Given the description of an element on the screen output the (x, y) to click on. 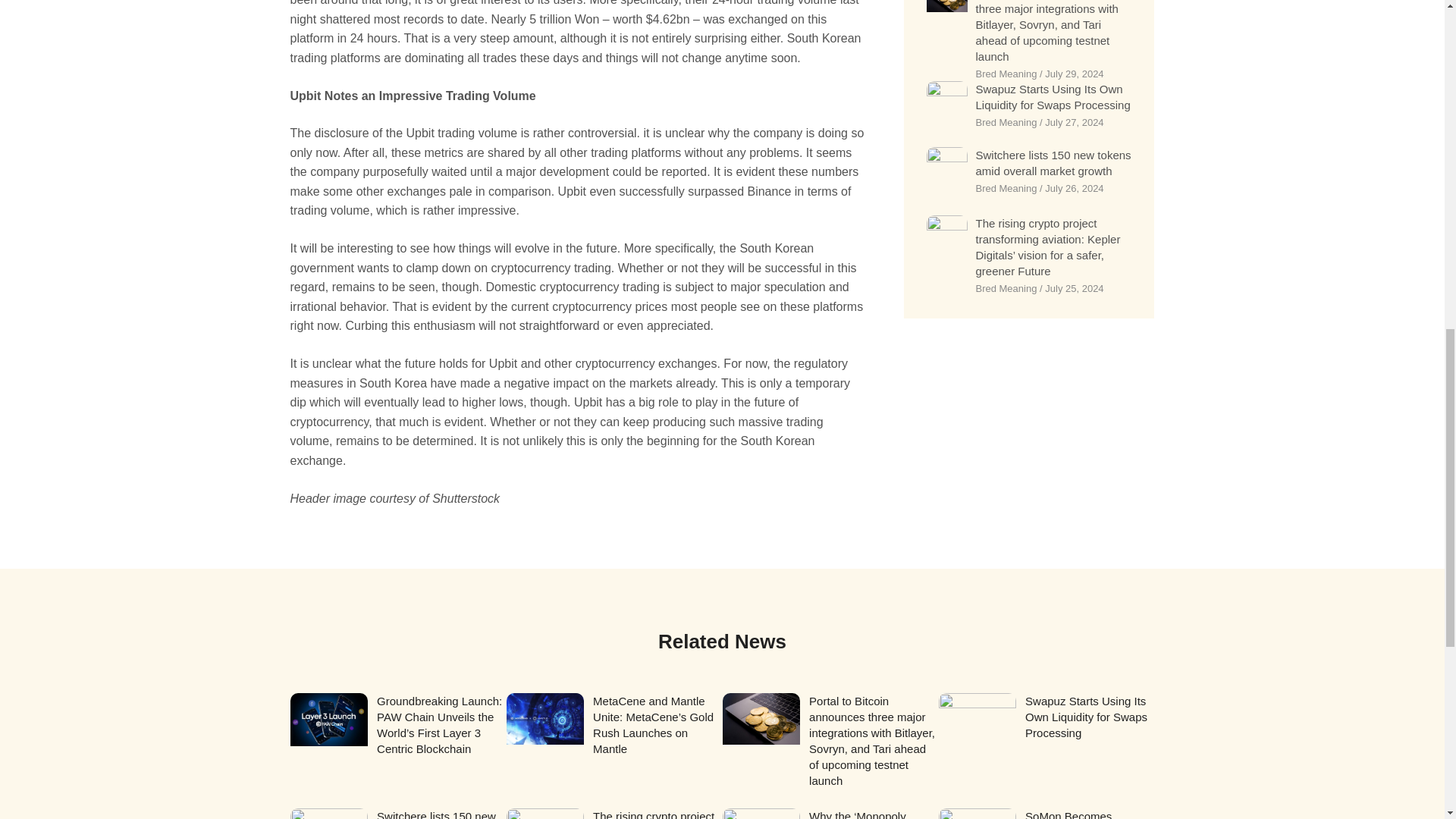
Switchere lists 150 new tokens amid overall market growth (1053, 162)
Switchere lists 150 new tokens amid overall market growth (436, 814)
Swapuz Starts Using Its Own Liquidity for Swaps Processing (1086, 716)
Swapuz Starts Using Its Own Liquidity for Swaps Processing (1052, 96)
